Given the description of an element on the screen output the (x, y) to click on. 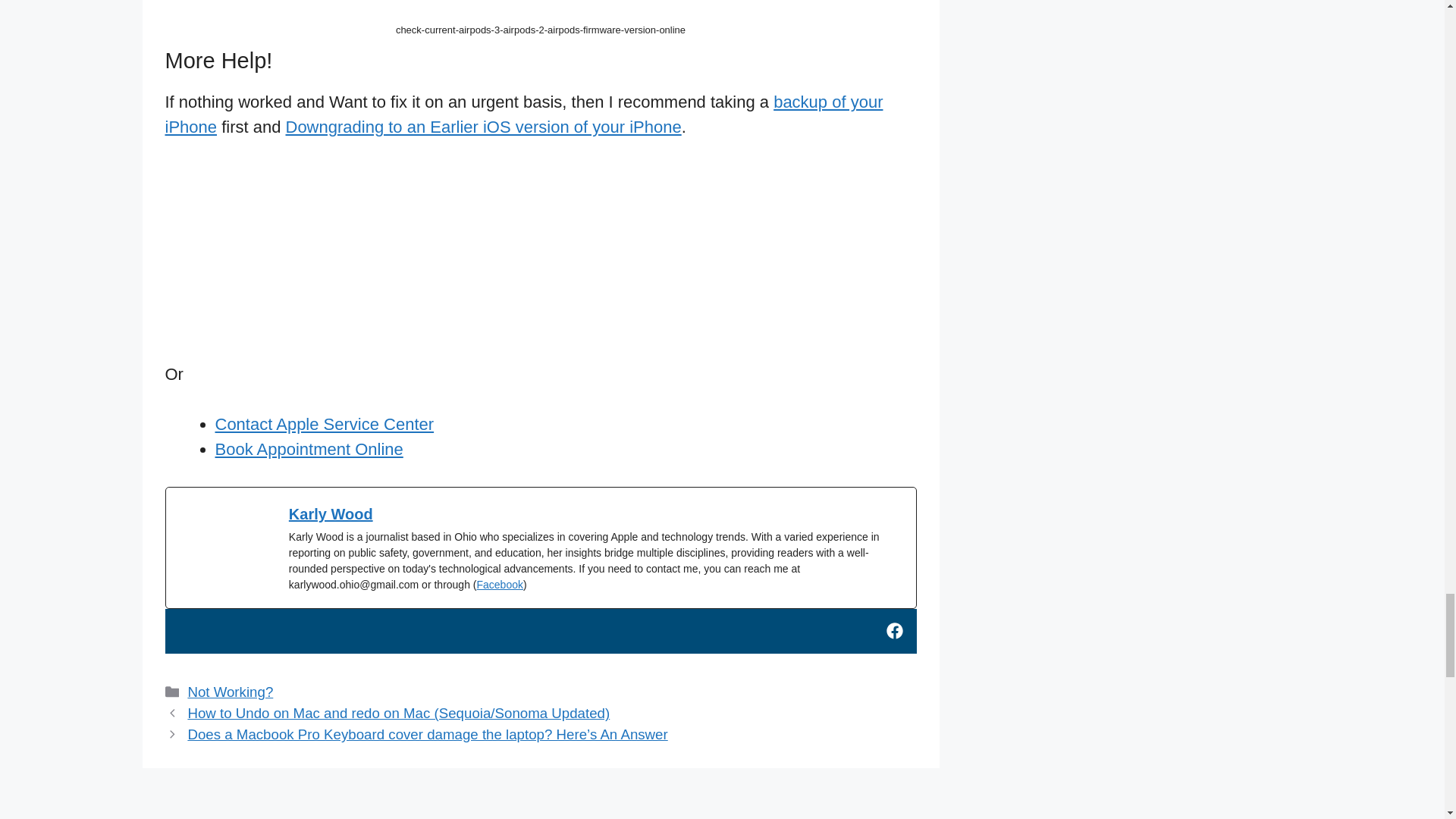
backup of your iPhone (524, 114)
Downgrading to an Earlier iOS version of your iPhone (483, 126)
Contact Apple Service Center (324, 424)
